Given the description of an element on the screen output the (x, y) to click on. 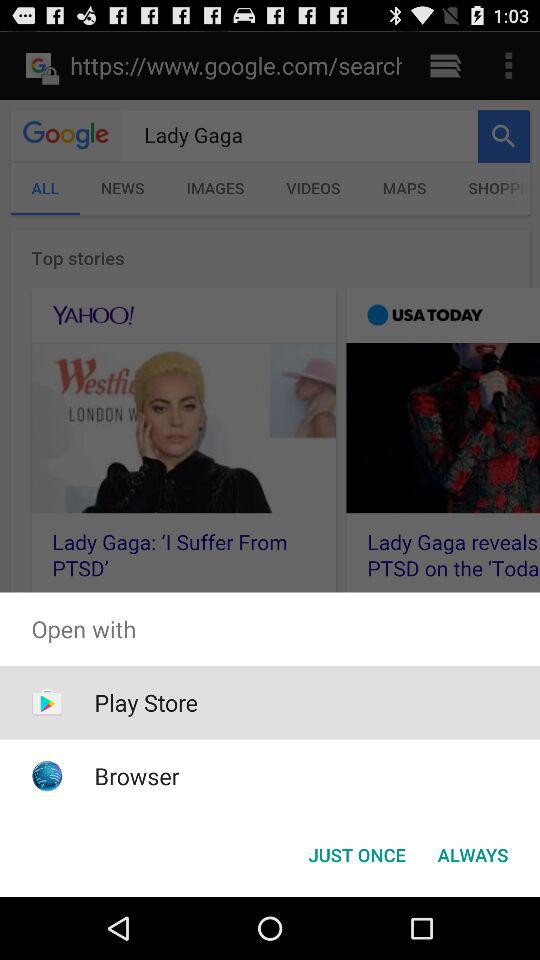
select icon below the open with (356, 854)
